Given the description of an element on the screen output the (x, y) to click on. 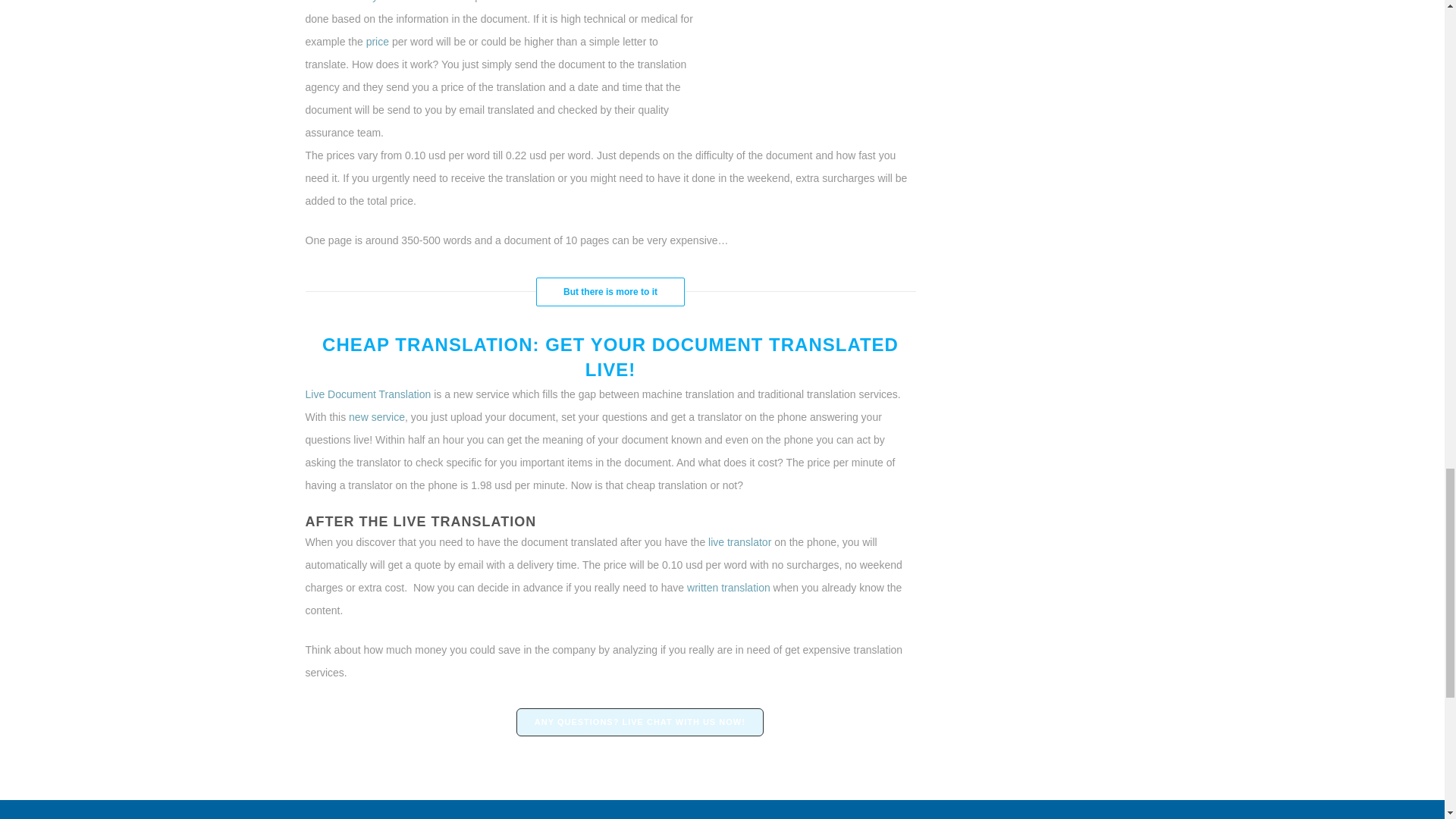
translation for your documents. (376, 1)
new service (376, 417)
LIVE TRANSLATION (464, 521)
Live Document Translation (367, 394)
ANY QUESTIONS? LIVE CHAT WITH US NOW! (639, 722)
written translation (727, 587)
live translator (739, 541)
price (375, 41)
